Given the description of an element on the screen output the (x, y) to click on. 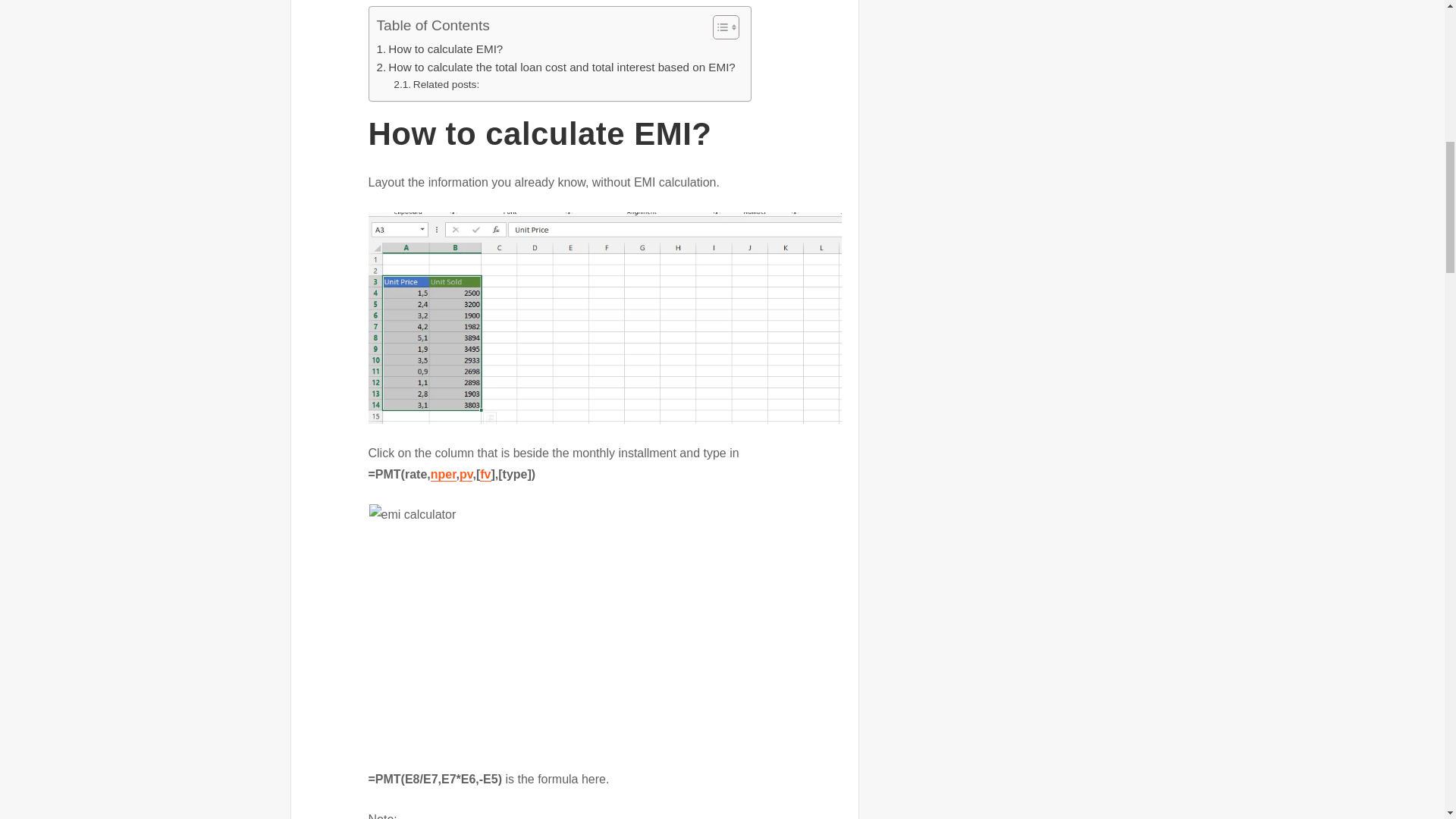
Related posts: (436, 84)
emi calculator (604, 627)
How to calculate EMI? (438, 49)
data (604, 318)
Related posts: (436, 84)
How to calculate EMI? (438, 49)
pv (465, 473)
nper (443, 473)
